Given the description of an element on the screen output the (x, y) to click on. 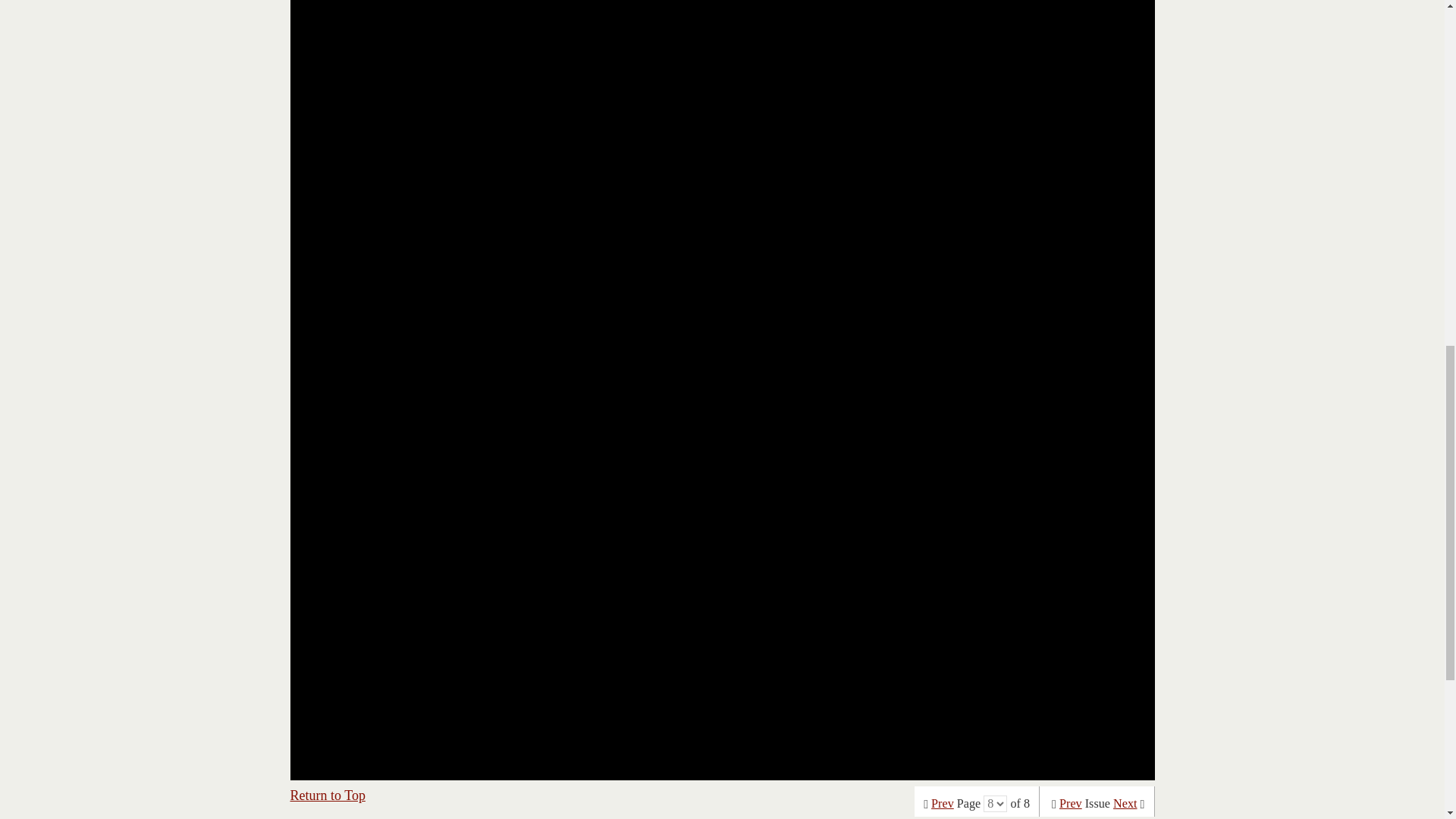
Next (1125, 803)
Prev (942, 803)
Return to Top (327, 795)
Prev (1070, 803)
